Given the description of an element on the screen output the (x, y) to click on. 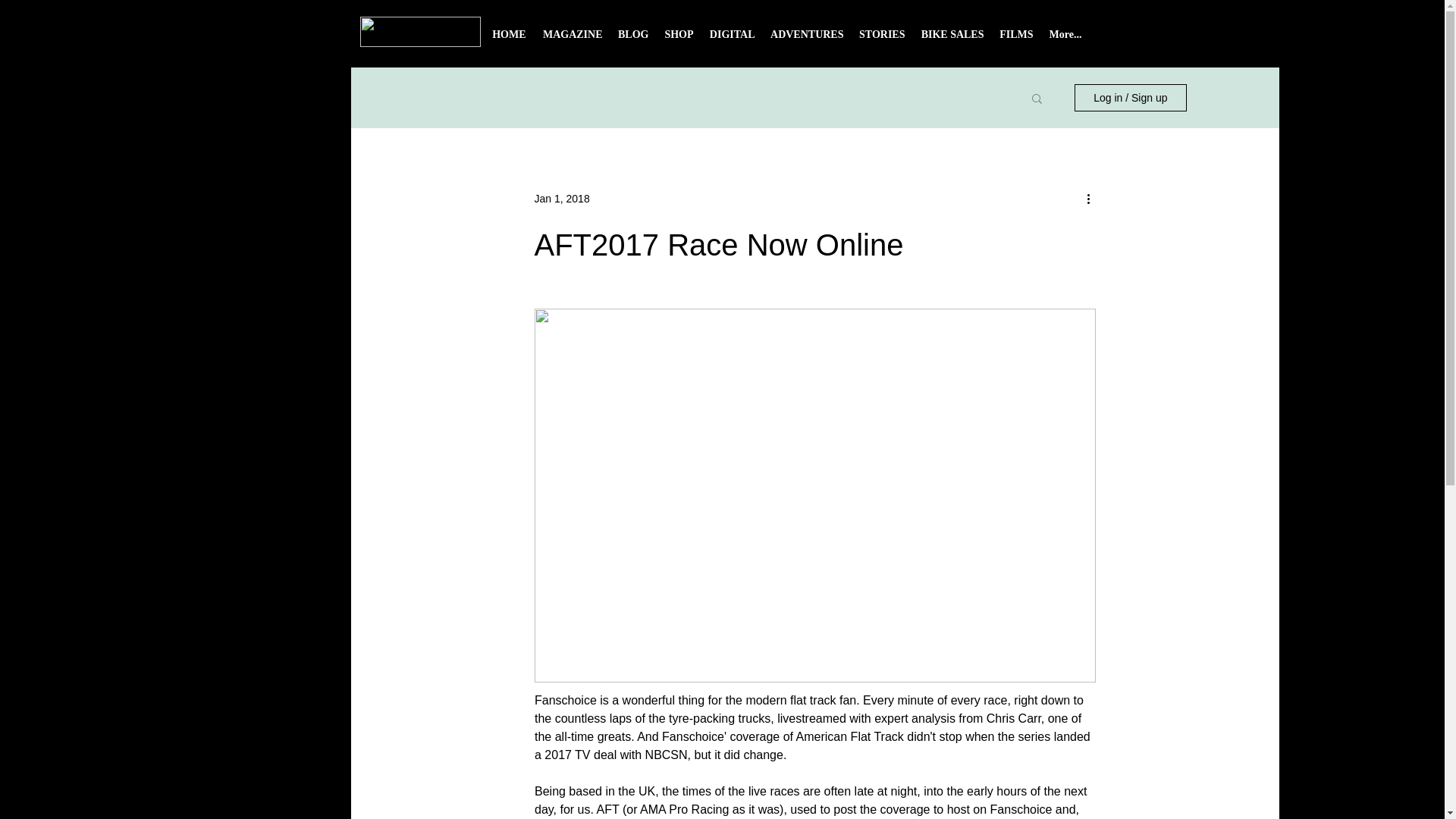
Jan 1, 2018 (561, 198)
DIGITAL (730, 39)
HOME (508, 39)
FILMS (1016, 39)
BLOG (633, 39)
STORIES (881, 39)
BIKE SALES (951, 39)
ADVENTURES (806, 39)
